Given the description of an element on the screen output the (x, y) to click on. 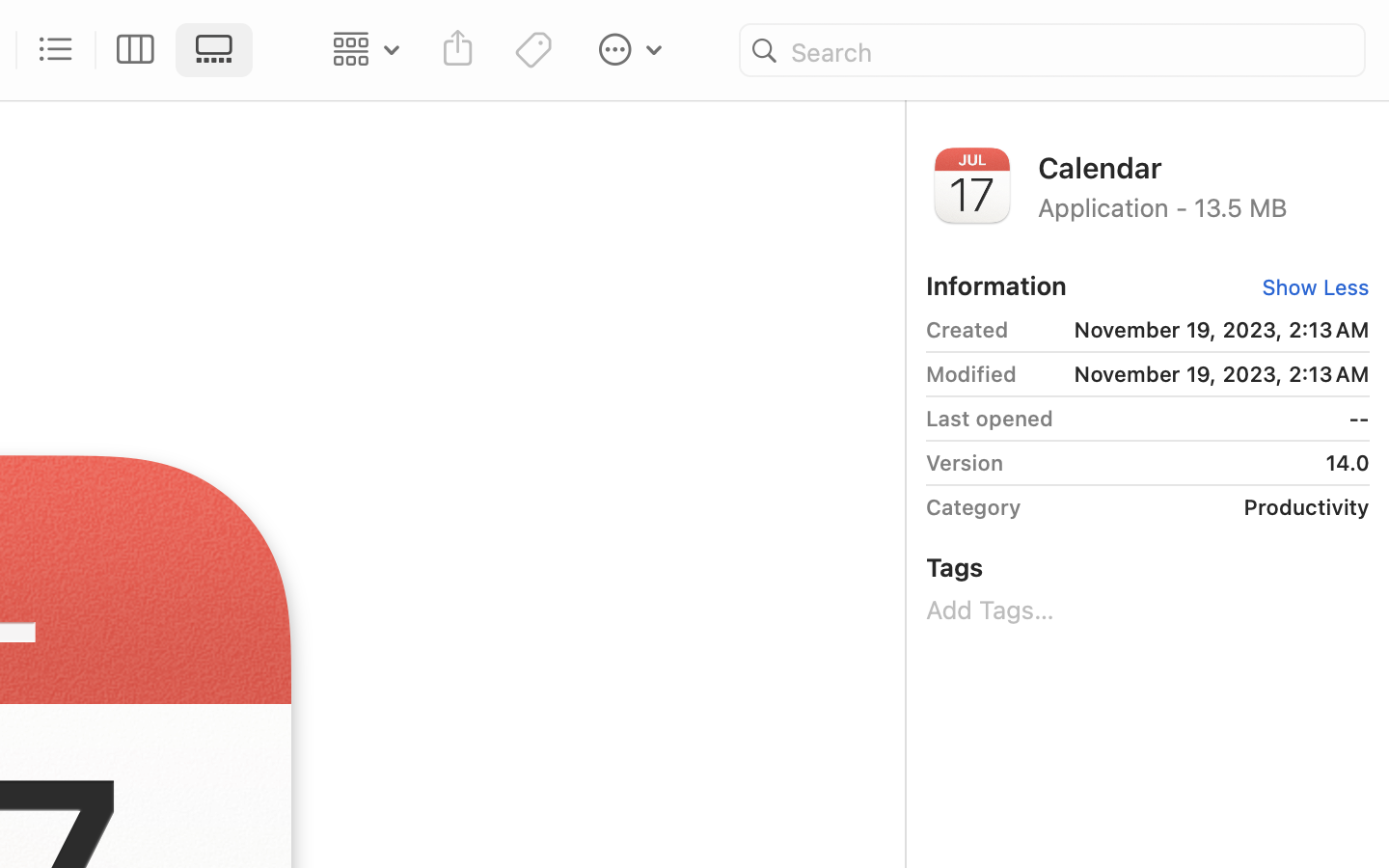
Created Element type: AXStaticText (967, 329)
Version Element type: AXStaticText (964, 462)
Calendar Element type: AXStaticText (1203, 165)
Tags Element type: AXStaticText (954, 566)
-- Element type: AXStaticText (1217, 418)
